Given the description of an element on the screen output the (x, y) to click on. 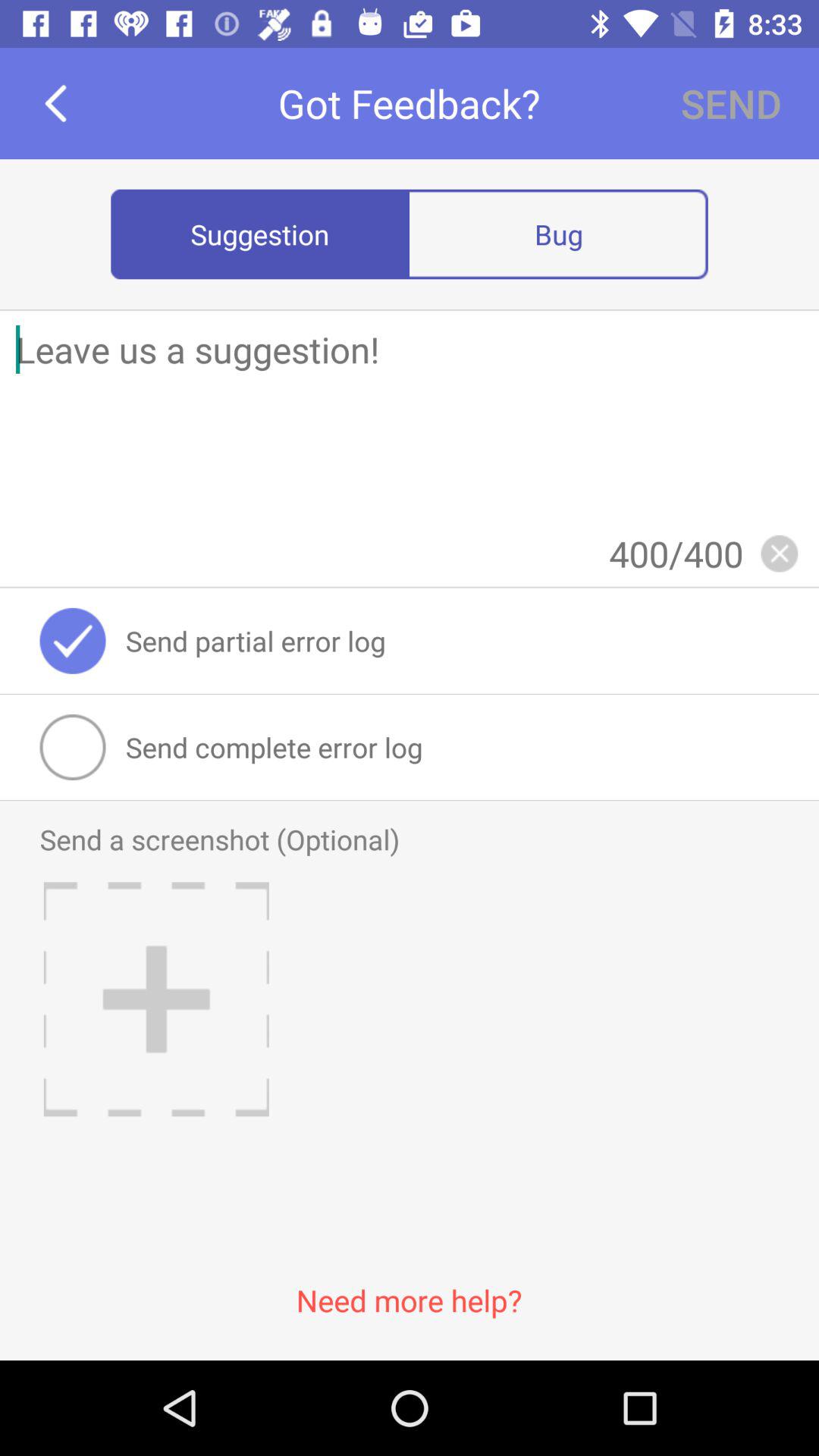
choose the item to the left of got feedback? (55, 103)
